Given the description of an element on the screen output the (x, y) to click on. 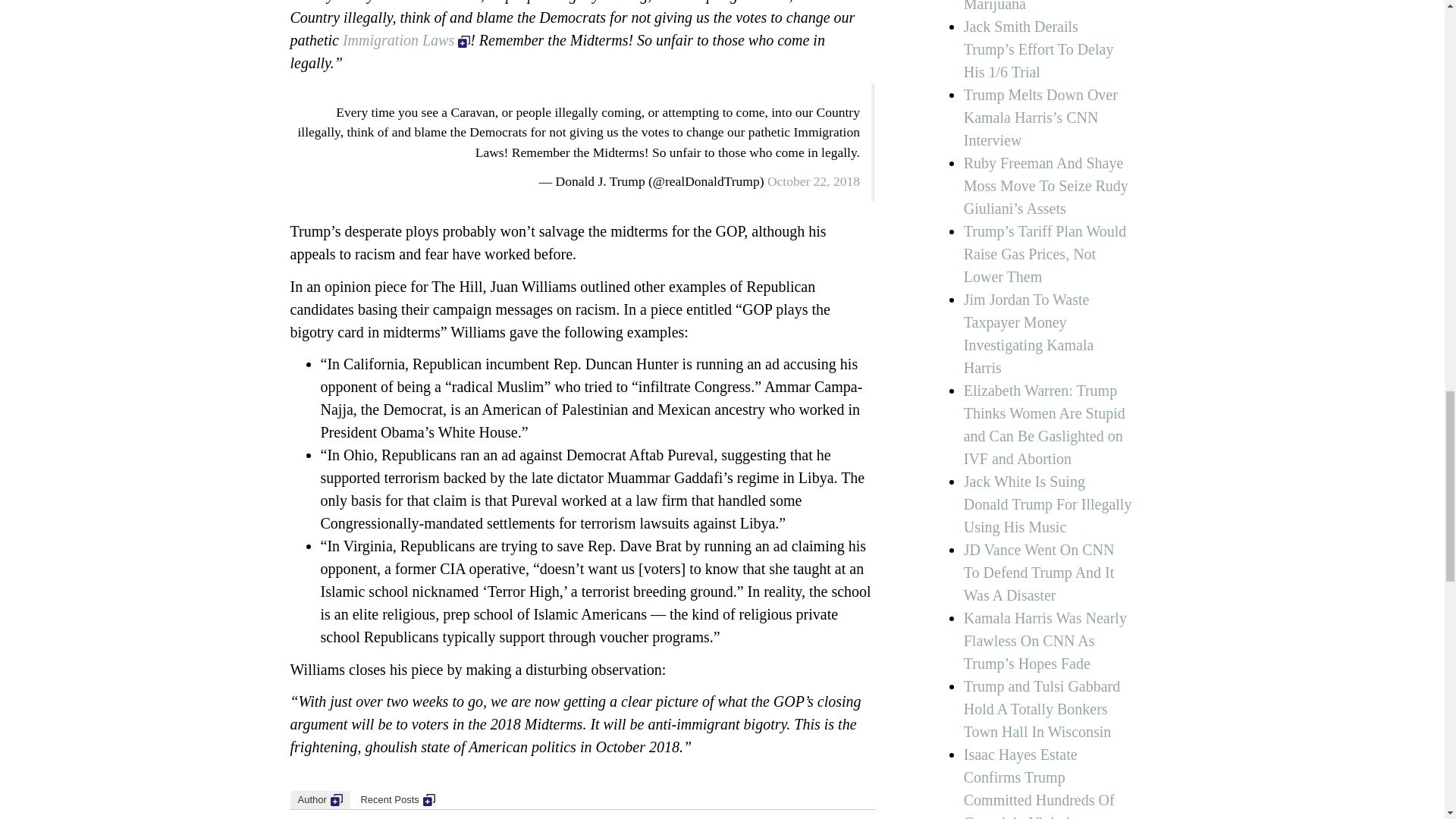
Link goes to another page on this site. (429, 799)
Link goes to another page on this site. (336, 799)
Recent Posts (397, 800)
Immigration Laws (406, 39)
an opinion piece for The Hill, (397, 286)
Author (319, 800)
October 22, 2018 (813, 181)
